Given the description of an element on the screen output the (x, y) to click on. 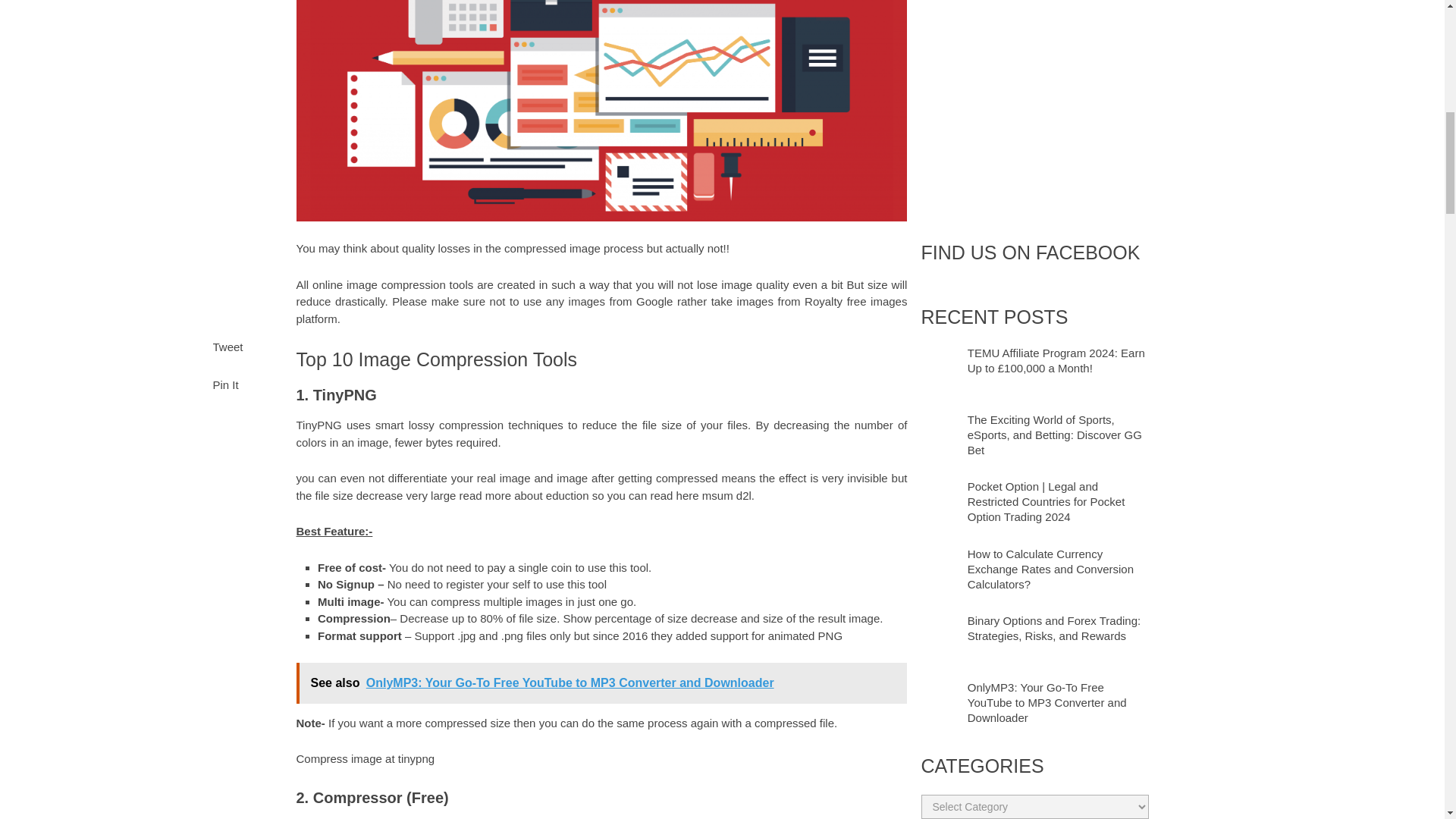
msum d2l (726, 495)
Royalty free images platform. (601, 309)
Compress image at tinypng (364, 758)
